Given the description of an element on the screen output the (x, y) to click on. 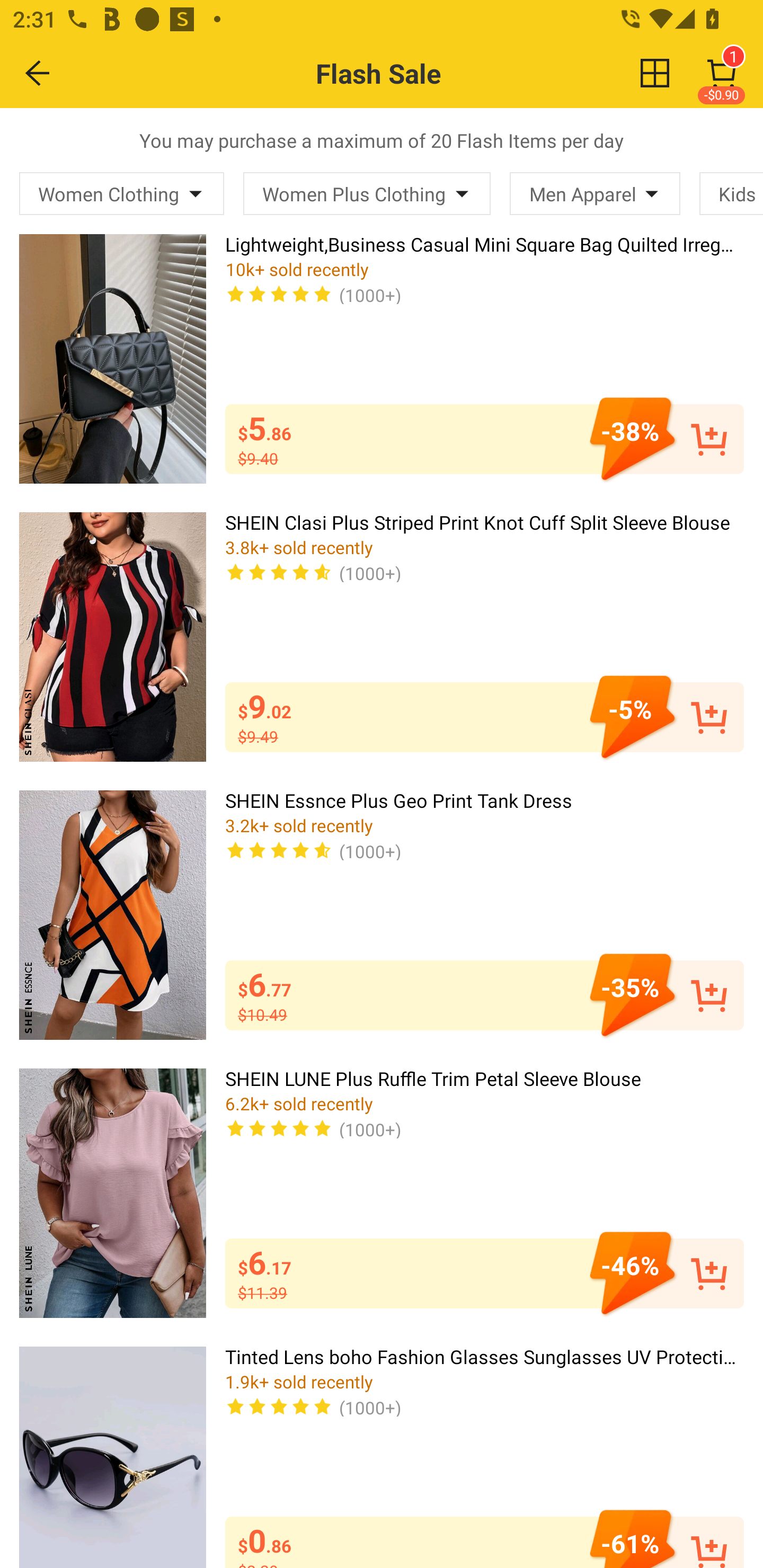
Flash Sale change view 1 -$0.90 (419, 72)
1 -$0.90 (721, 72)
change view (654, 72)
BACK (38, 72)
Women Clothing (121, 193)
Women Plus Clothing (366, 193)
Men Apparel (594, 193)
SHEIN Essnce Plus Geo Print Tank Dress (112, 914)
SHEIN LUNE Plus Ruffle Trim Petal Sleeve Blouse (112, 1192)
